Given the description of an element on the screen output the (x, y) to click on. 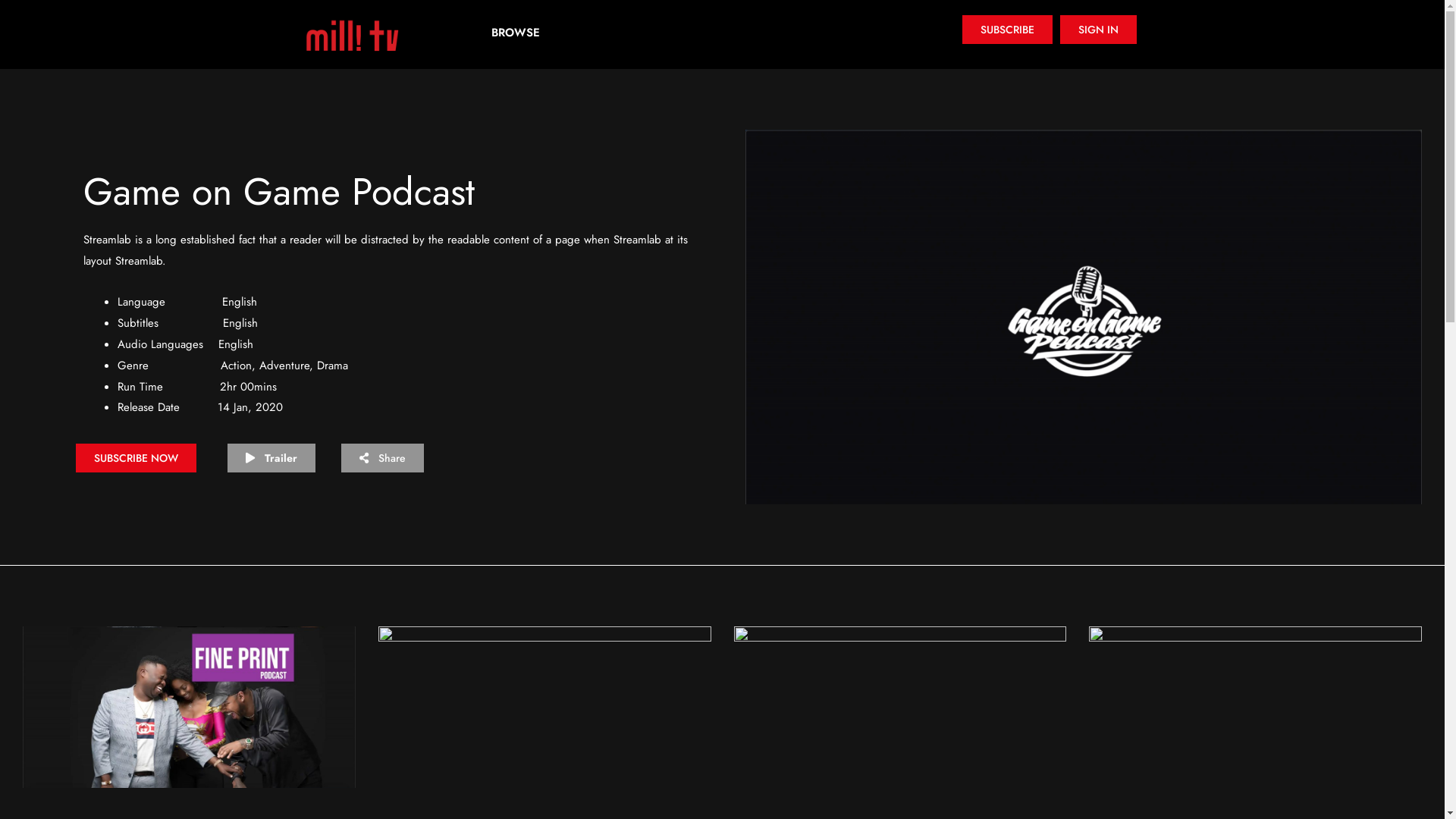
SUBSCRIBE NOW Element type: text (135, 457)
Share Element type: text (382, 457)
Trailer Element type: text (271, 457)
SIGN IN Element type: text (1098, 29)
SUBSCRIBE Element type: text (1007, 29)
BROWSE Element type: text (515, 32)
